Given the description of an element on the screen output the (x, y) to click on. 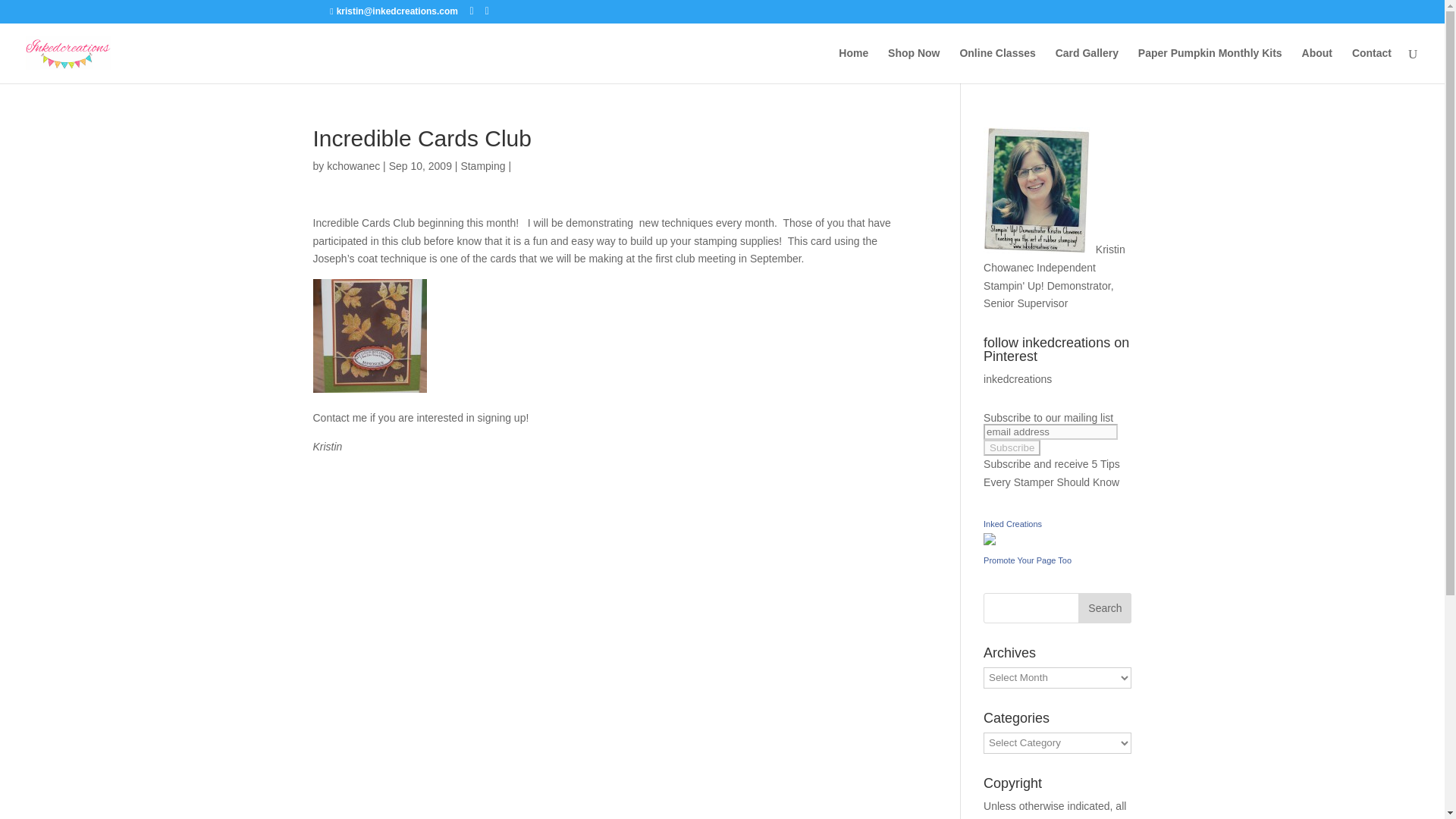
Promote Your Page Too (1027, 560)
Make your own badge! (1027, 560)
Contact (1371, 65)
Posts by kchowanec (353, 165)
kchowanec (353, 165)
Online Classes (997, 65)
Stamping (482, 165)
Subscribe (1012, 447)
Inked Creations (1013, 523)
Subscribe (1012, 447)
